Given the description of an element on the screen output the (x, y) to click on. 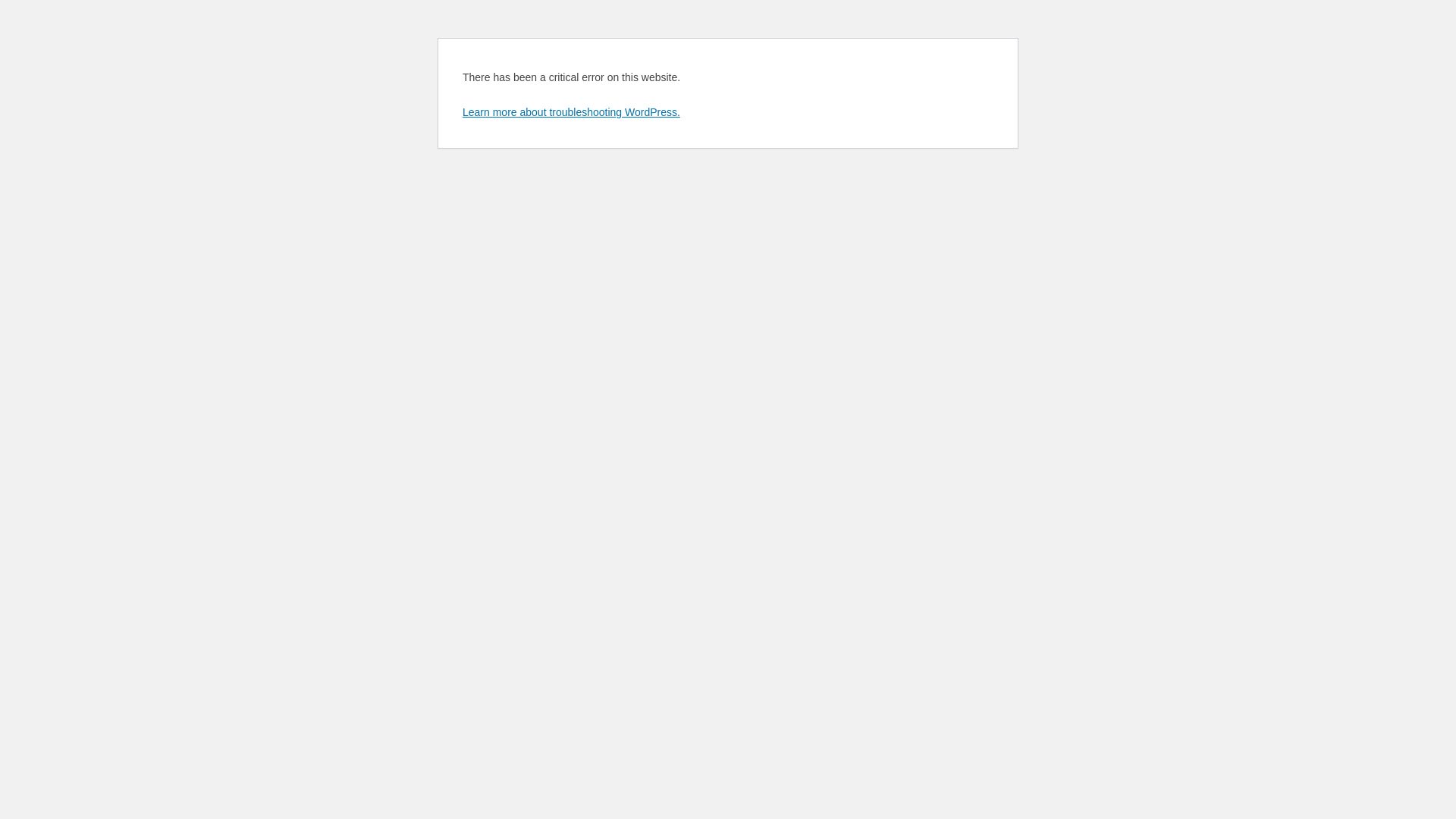
Learn more about troubleshooting WordPress. Element type: text (571, 112)
